Given the description of an element on the screen output the (x, y) to click on. 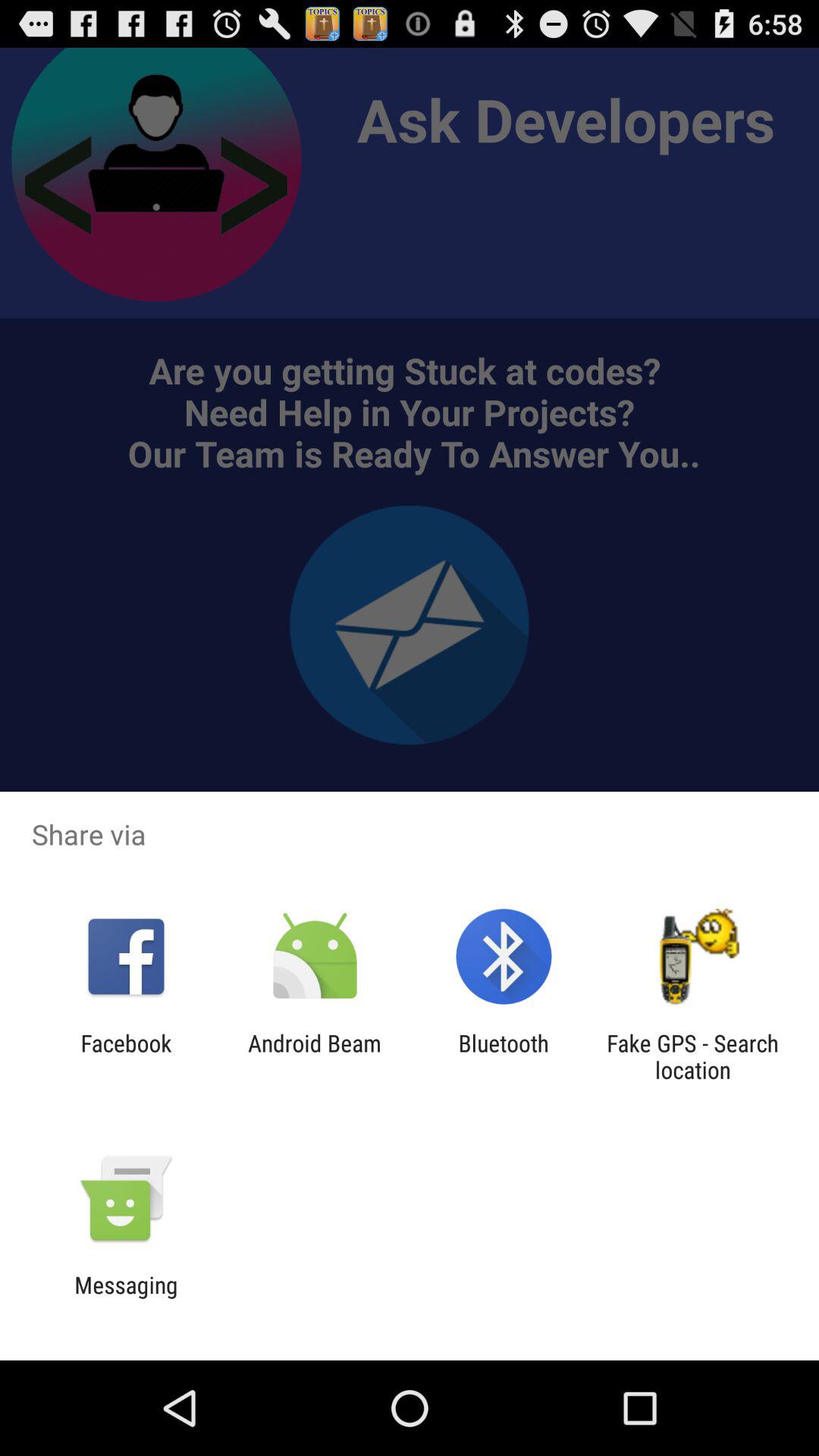
choose icon to the right of the bluetooth (692, 1056)
